Given the description of an element on the screen output the (x, y) to click on. 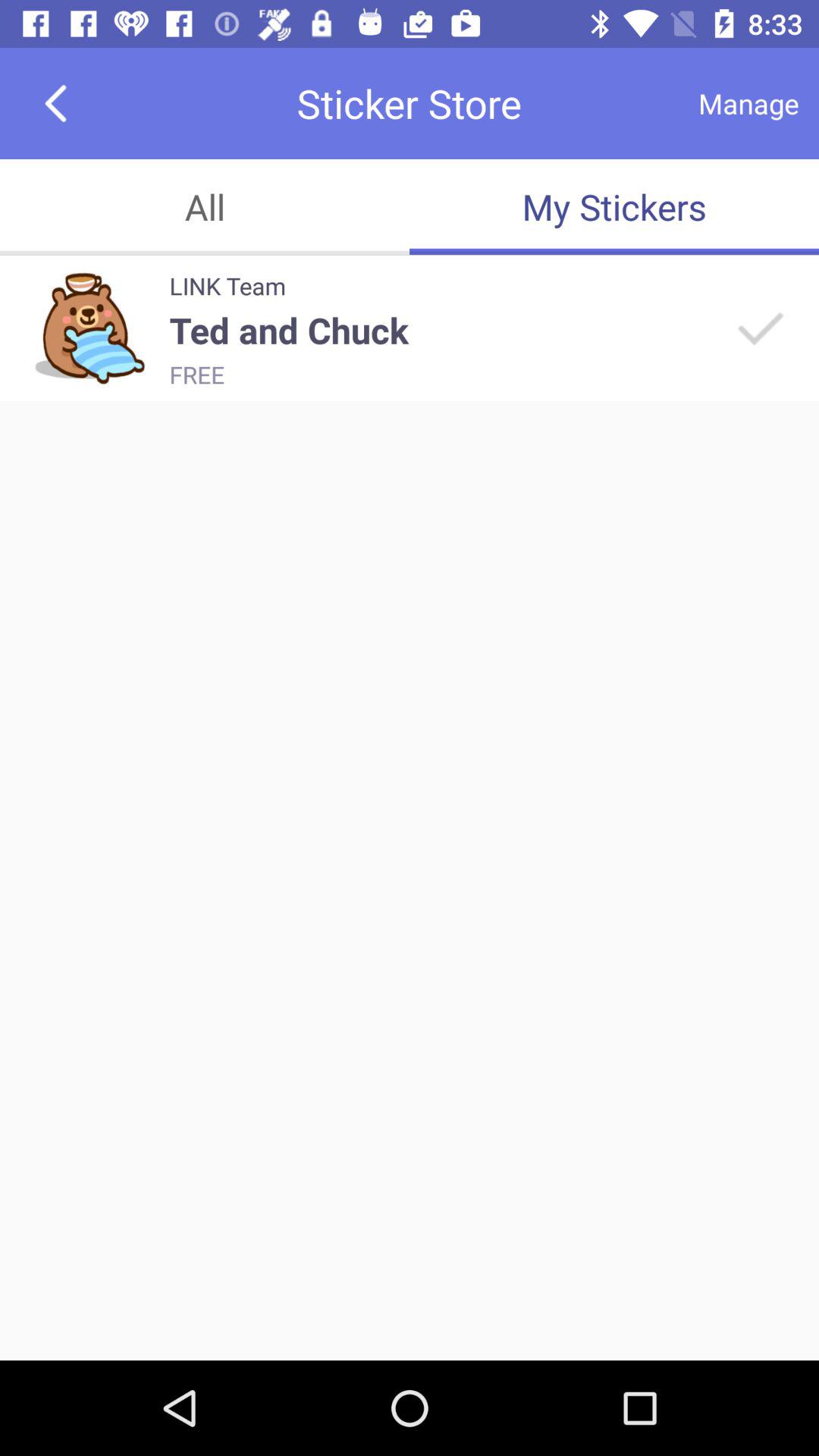
turn on the icon next to my stickers item (204, 206)
